Given the description of an element on the screen output the (x, y) to click on. 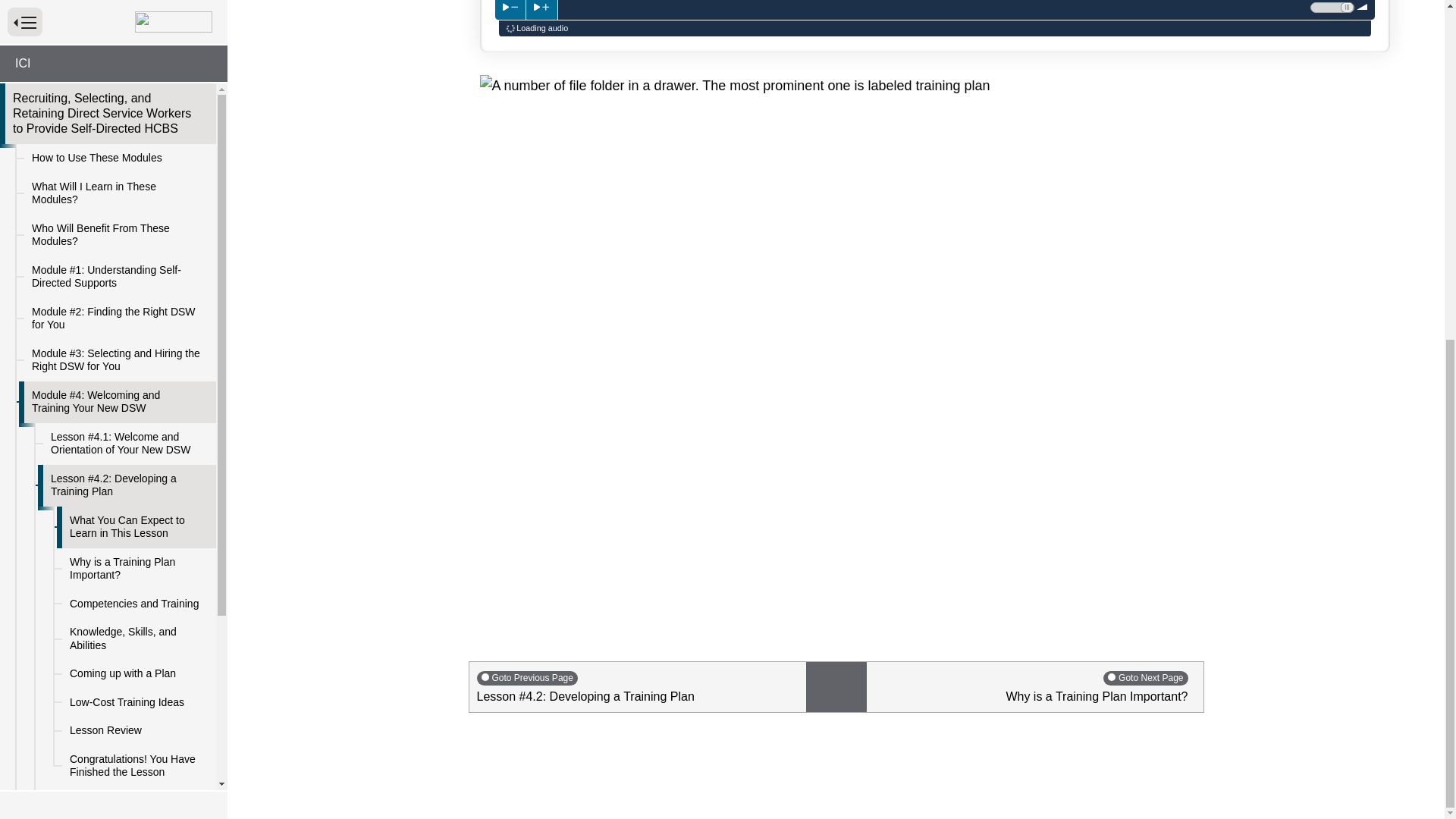
Goto Next Page Why is a Training Plan Important? (1034, 686)
Congratulations! You Have Finished the Lesson (135, 191)
100 (1332, 7)
Resources (116, 365)
Why is a Training Plan Important? (135, 7)
Low-Cost Training Ideas (135, 128)
Coming up with a Plan (135, 99)
Glossary (116, 421)
Knowledge, Skills, and Abilities (135, 64)
Press to speed up playback (541, 9)
